Given the description of an element on the screen output the (x, y) to click on. 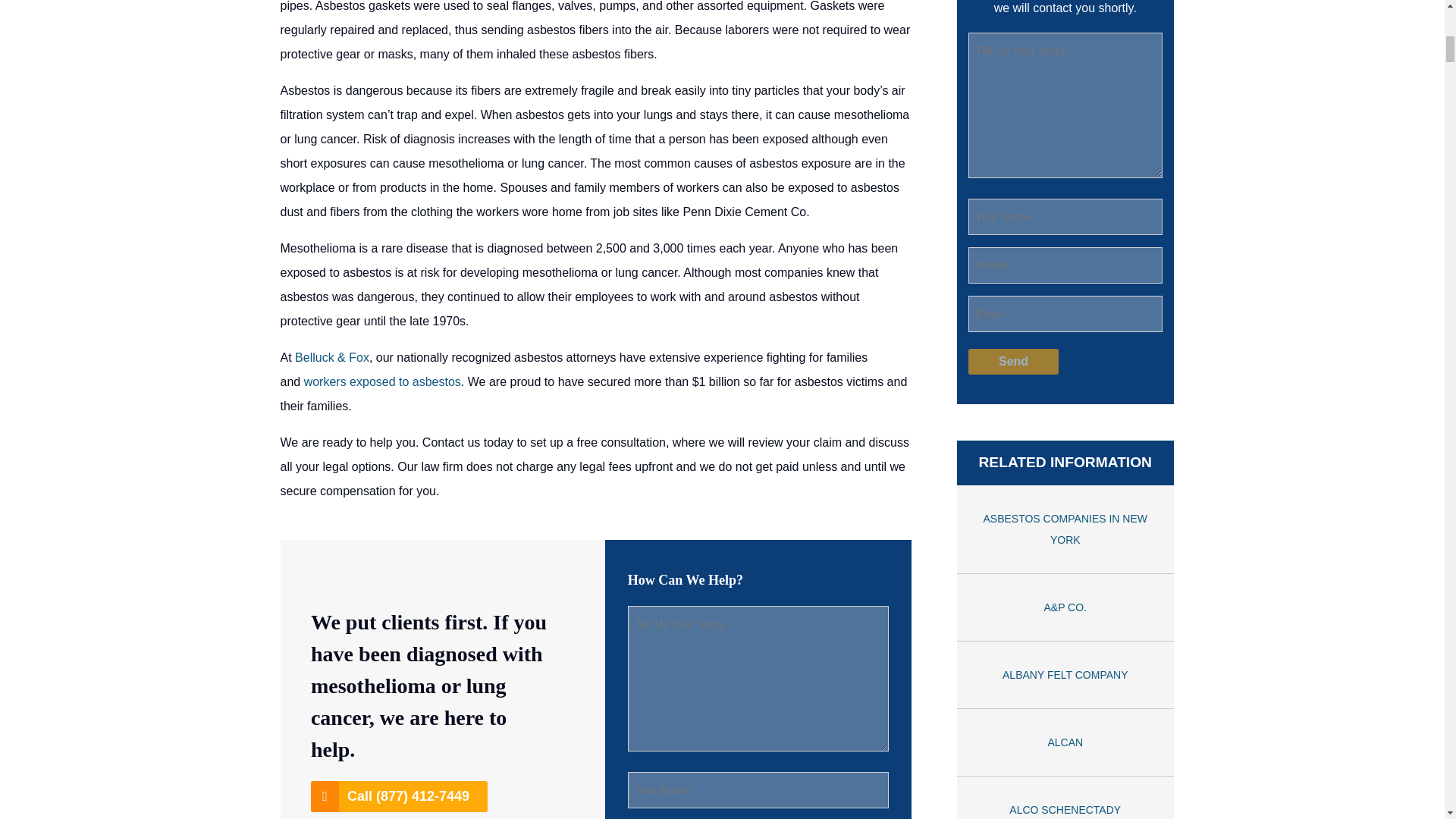
Send (1013, 361)
